Given the description of an element on the screen output the (x, y) to click on. 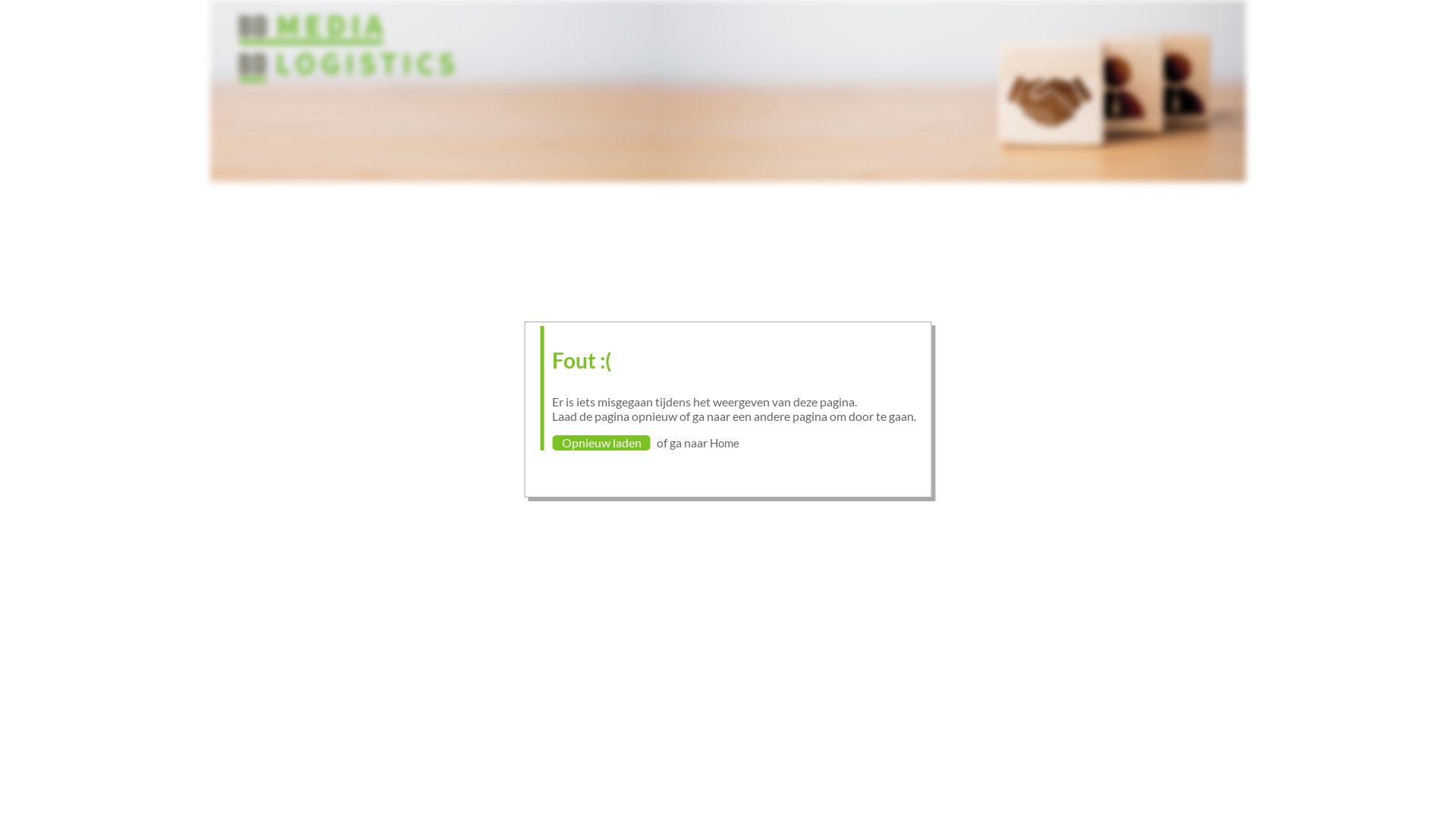
Home Element type: text (724, 442)
Opnieuw laden Element type: text (600, 442)
